Given the description of an element on the screen output the (x, y) to click on. 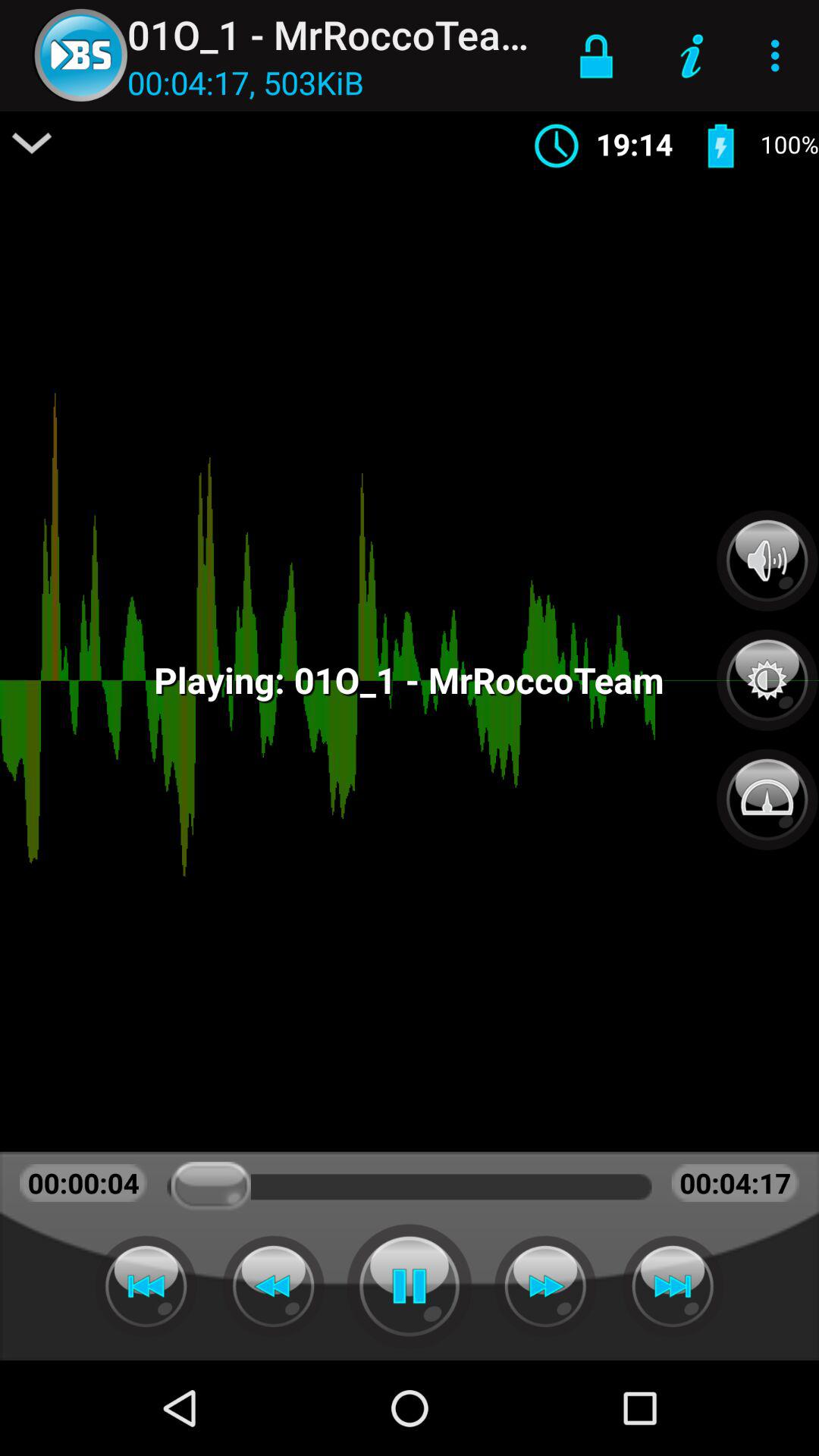
turn on item above the 00:00:05 (31, 143)
